Given the description of an element on the screen output the (x, y) to click on. 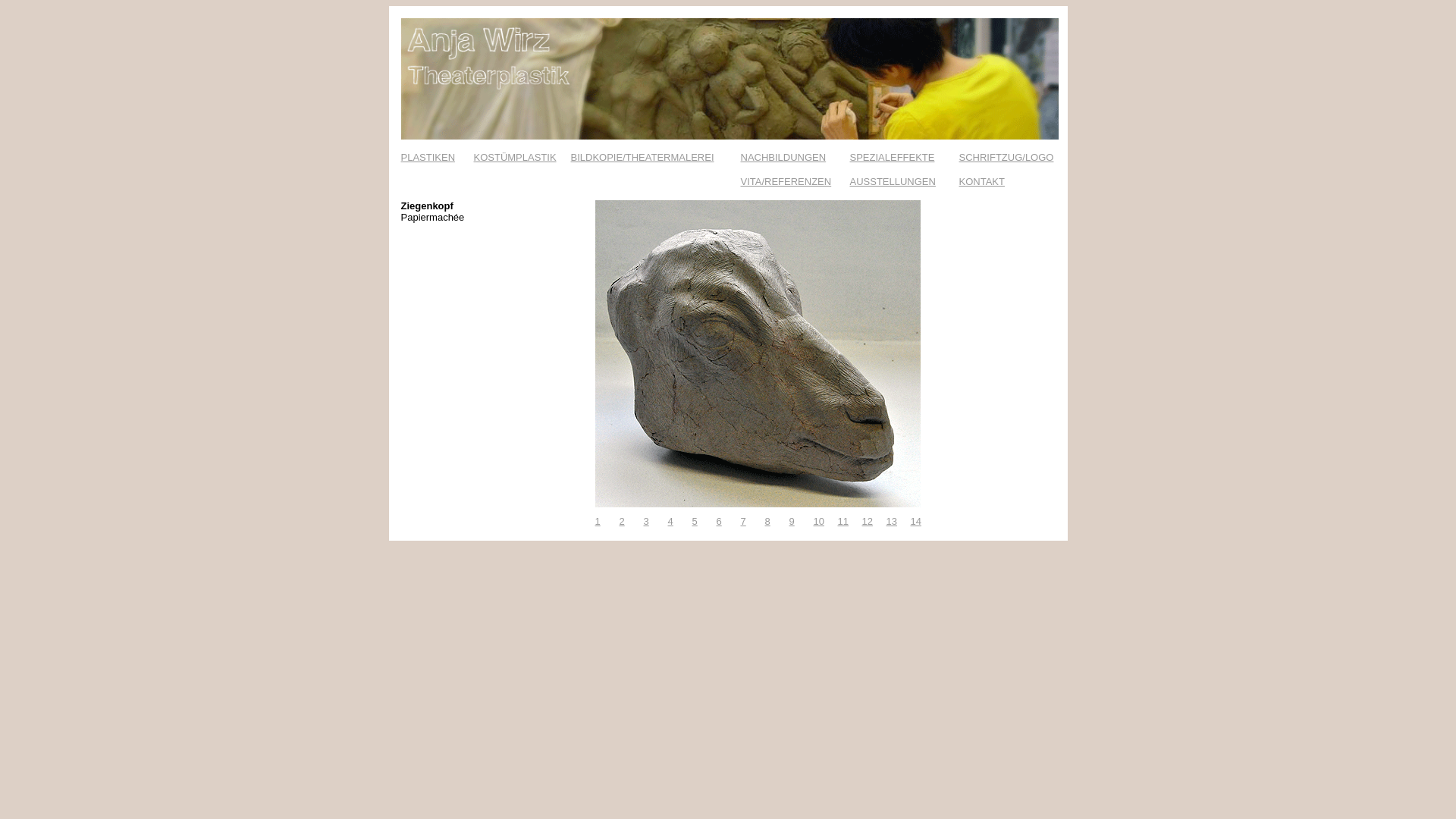
AUSSTELLUNGEN Element type: text (892, 181)
4 Element type: text (669, 521)
KONTAKT Element type: text (981, 181)
VITA/REFERENZEN Element type: text (785, 181)
8 Element type: text (766, 521)
PLASTIKEN Element type: text (427, 157)
10 Element type: text (817, 521)
SPEZIALEFFEKTE Element type: text (891, 157)
11 Element type: text (842, 521)
13 Element type: text (890, 521)
7 Element type: text (742, 521)
14 Element type: text (915, 521)
6 Element type: text (718, 521)
12 Element type: text (866, 521)
SCHRIFTZUG/LOGO Element type: text (1005, 157)
1 Element type: text (596, 521)
9 Element type: text (790, 521)
BILDKOPIE/THEATERMALEREI Element type: text (641, 157)
NACHBILDUNGEN Element type: text (782, 157)
5 Element type: text (693, 521)
2 Element type: text (621, 521)
3 Element type: text (645, 521)
